Given the description of an element on the screen output the (x, y) to click on. 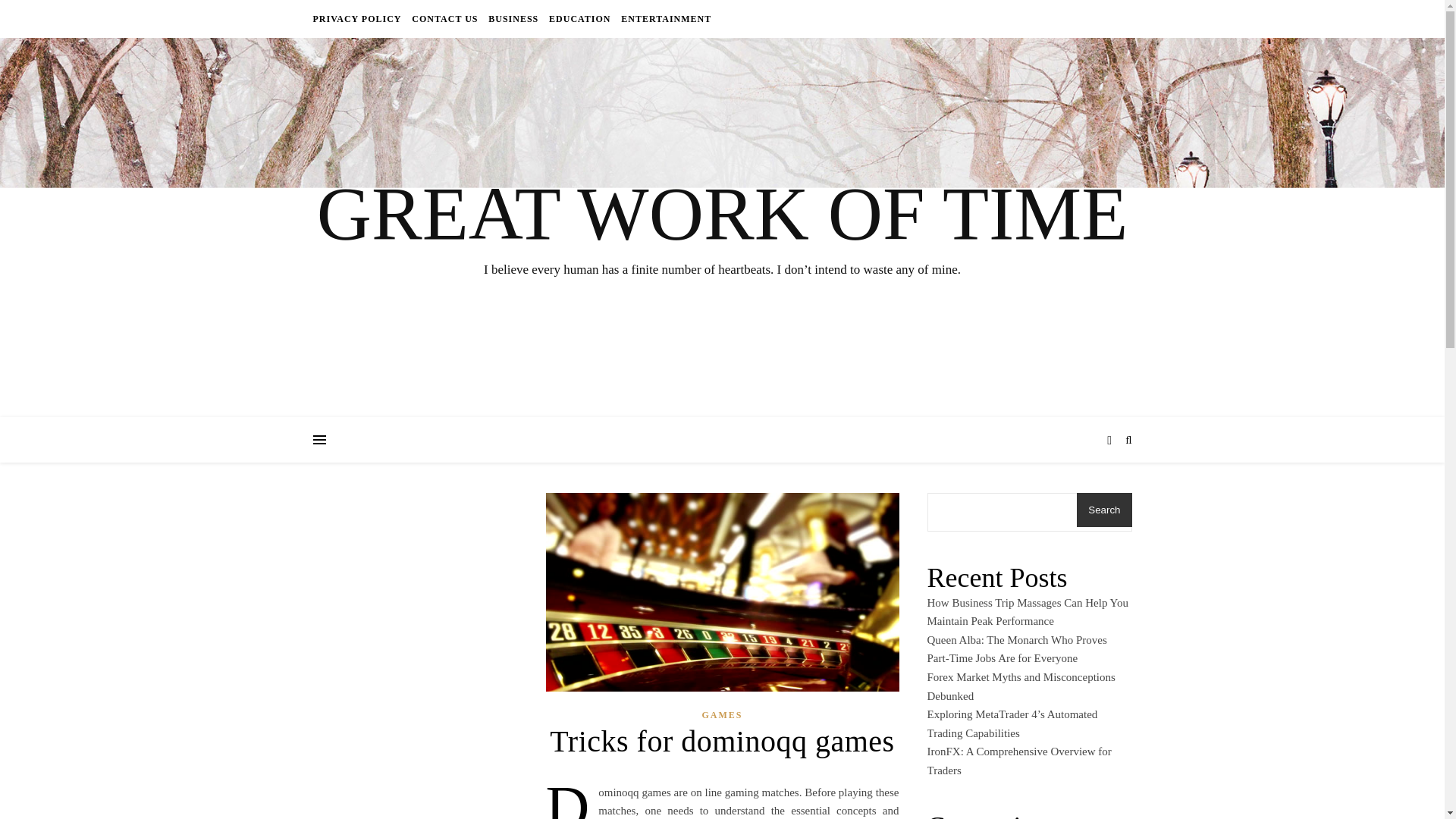
IronFX: A Comprehensive Overview for Traders (1018, 760)
Forex Market Myths and Misconceptions Debunked (1020, 685)
GAMES (721, 714)
EDUCATION (579, 18)
BUSINESS (512, 18)
PRIVACY POLICY (358, 18)
ENTERTAINMENT (664, 18)
Search (1104, 510)
